Given the description of an element on the screen output the (x, y) to click on. 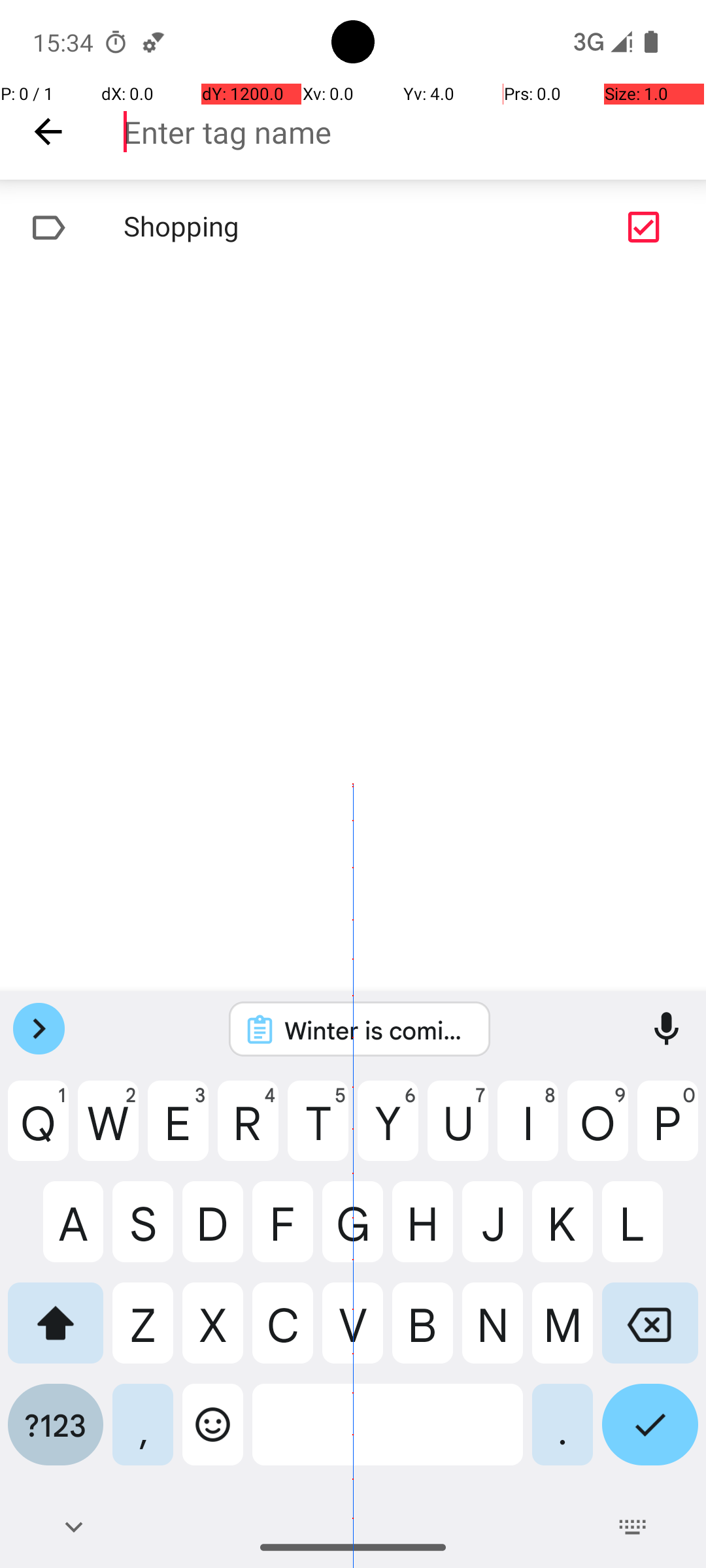
Shopping Element type: android.widget.TextView (311, 227)
